Given the description of an element on the screen output the (x, y) to click on. 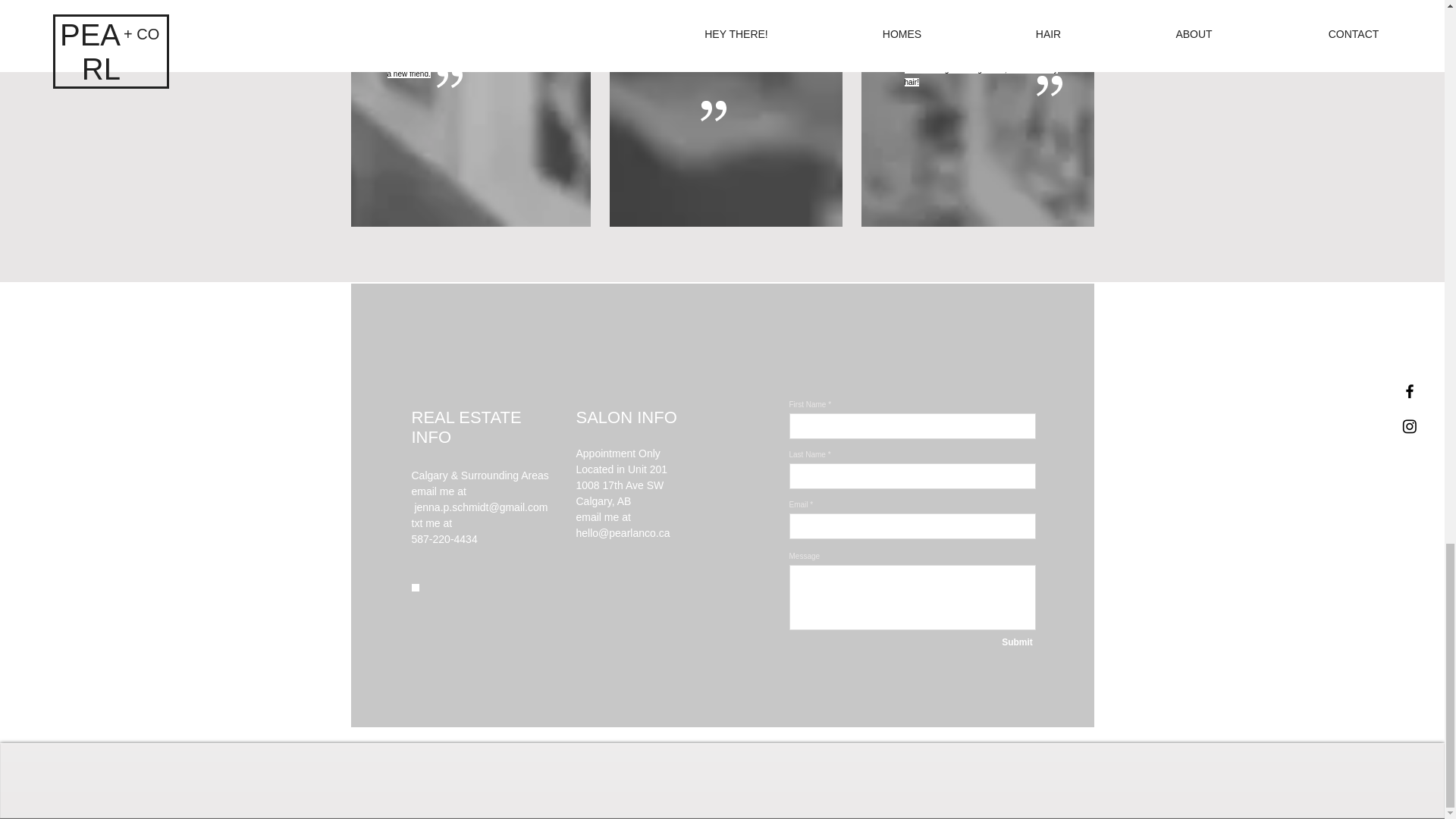
Submit (1016, 641)
